Given the description of an element on the screen output the (x, y) to click on. 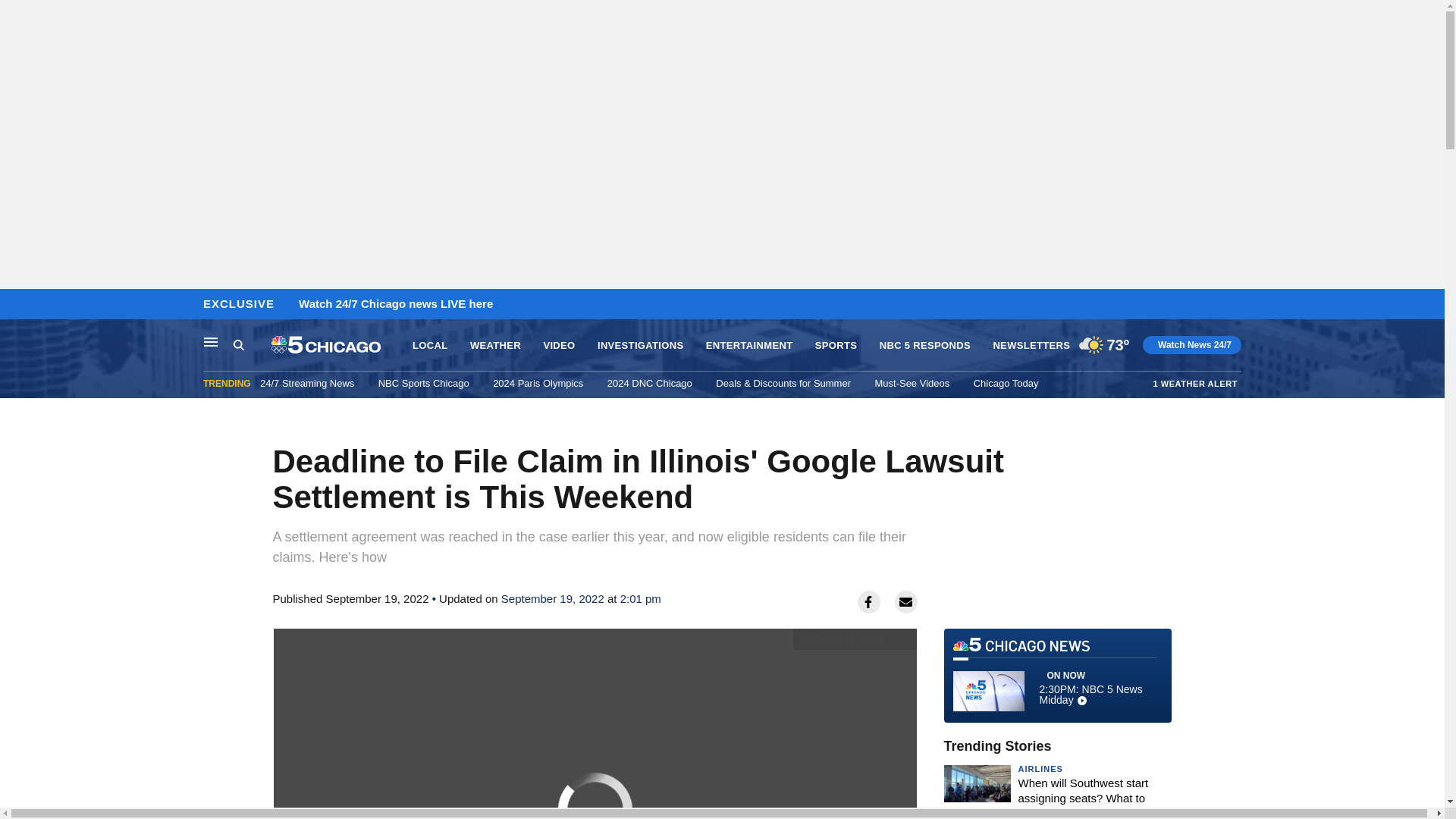
Skip to content (16, 304)
LOCAL (429, 345)
WEATHER (495, 345)
2024 DNC Chicago (650, 383)
NBC 5 RESPONDS (925, 345)
INVESTIGATIONS (639, 345)
ENTERTAINMENT (749, 345)
Main Navigation (210, 341)
2024 Paris Olympics (538, 383)
Search (238, 344)
SPORTS (836, 345)
NBC Sports Chicago (423, 383)
Must-See Videos (912, 383)
NEWSLETTERS (1031, 345)
Search (252, 345)
